Given the description of an element on the screen output the (x, y) to click on. 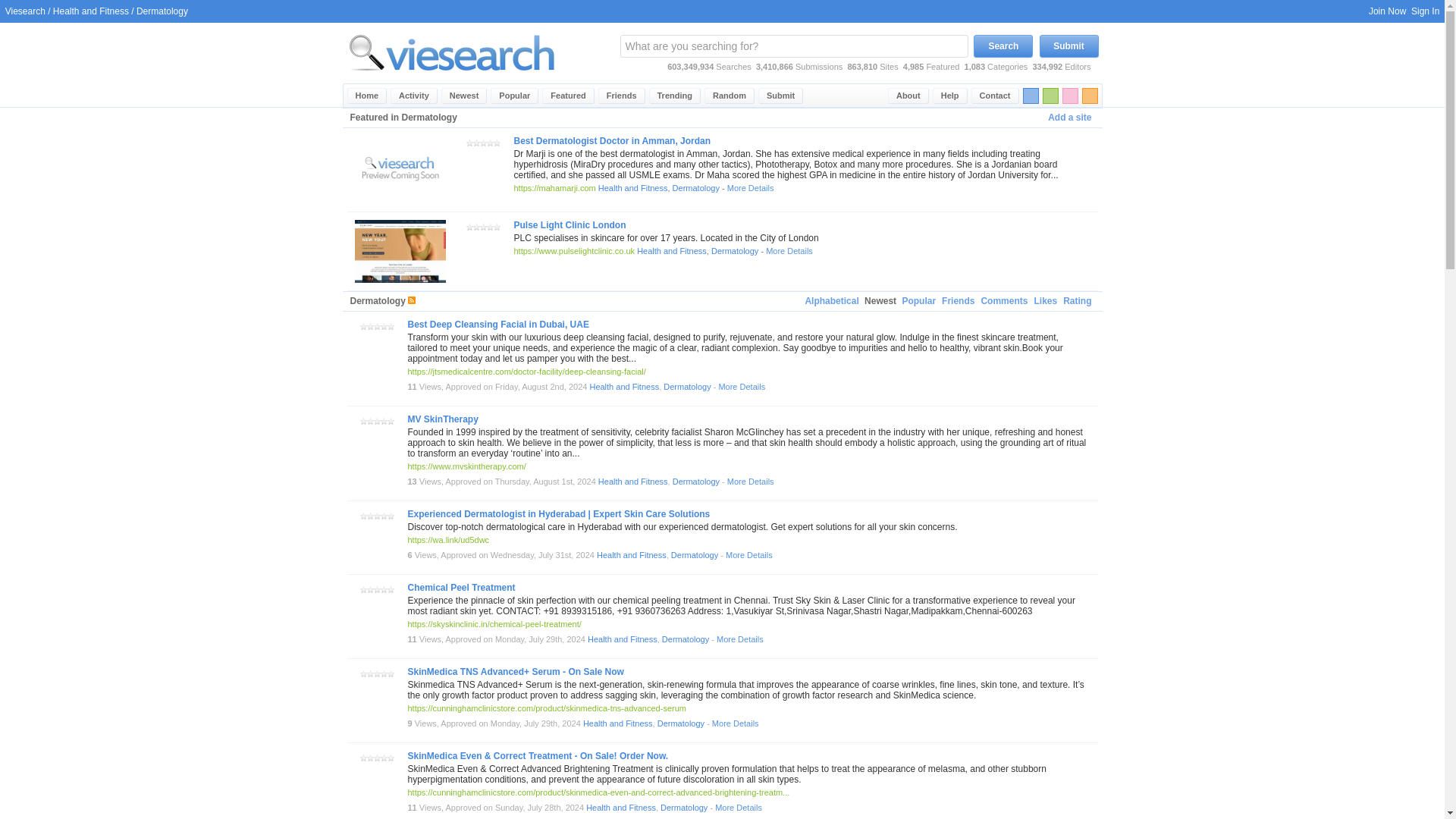
View a random site (729, 95)
What are you searching for? (794, 46)
Contact Viesearch (995, 95)
Viesearch - Human Powered Search Engine (452, 80)
More Details (750, 187)
Join Now (1387, 10)
Submit (1068, 46)
Popular (514, 95)
Trending search keywords on Viesearch (674, 95)
Alphabetical (831, 301)
More Details (788, 250)
Pulse Light Clinic London (569, 225)
Switch this page to green (1050, 95)
Best Dermatologist Doctor in Amman, Jordan (612, 140)
Switch this page to orange (1089, 95)
